Given the description of an element on the screen output the (x, y) to click on. 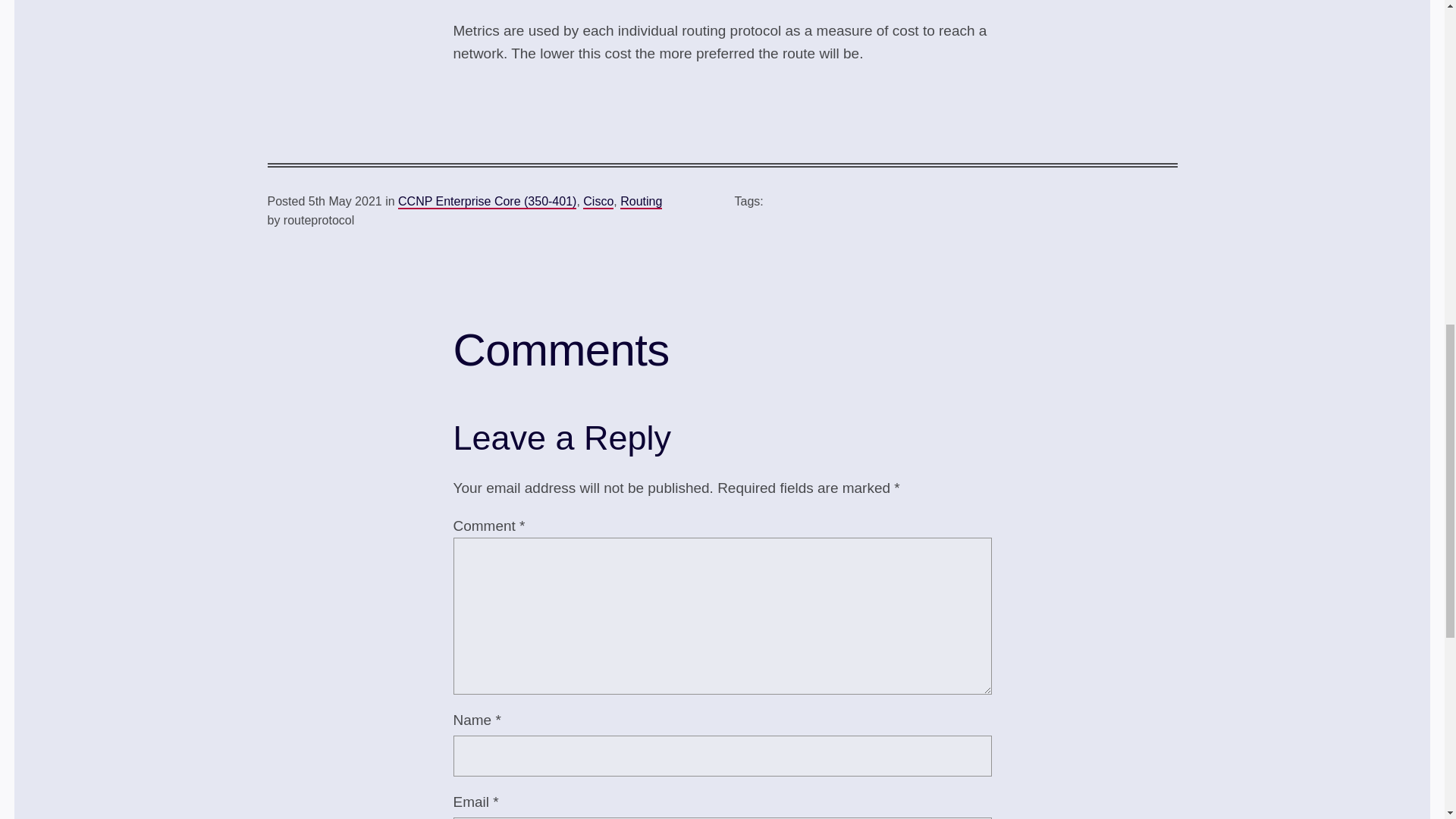
Routing (641, 201)
Cisco (597, 201)
